Given the description of an element on the screen output the (x, y) to click on. 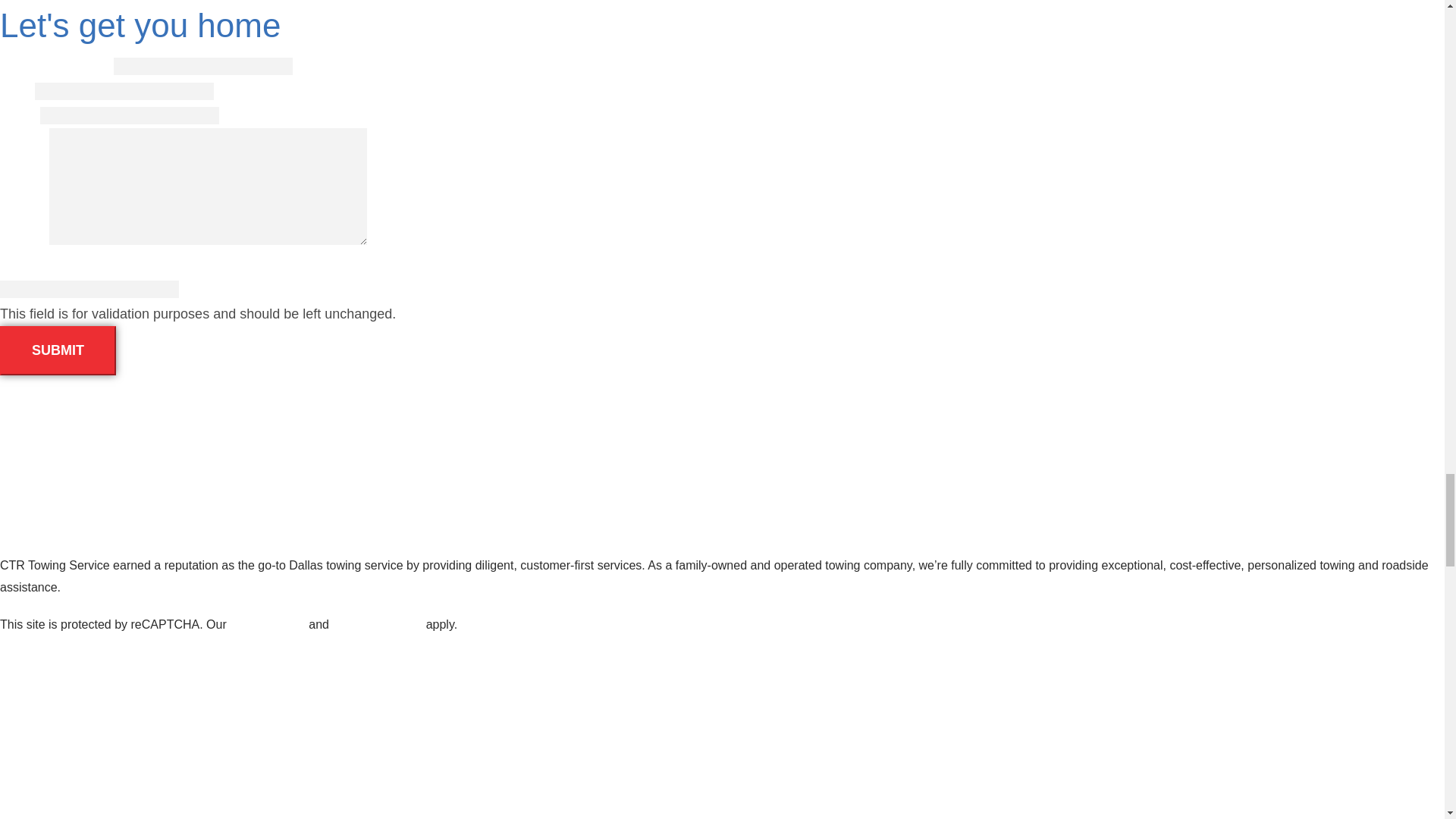
Submit (58, 350)
